Given the description of an element on the screen output the (x, y) to click on. 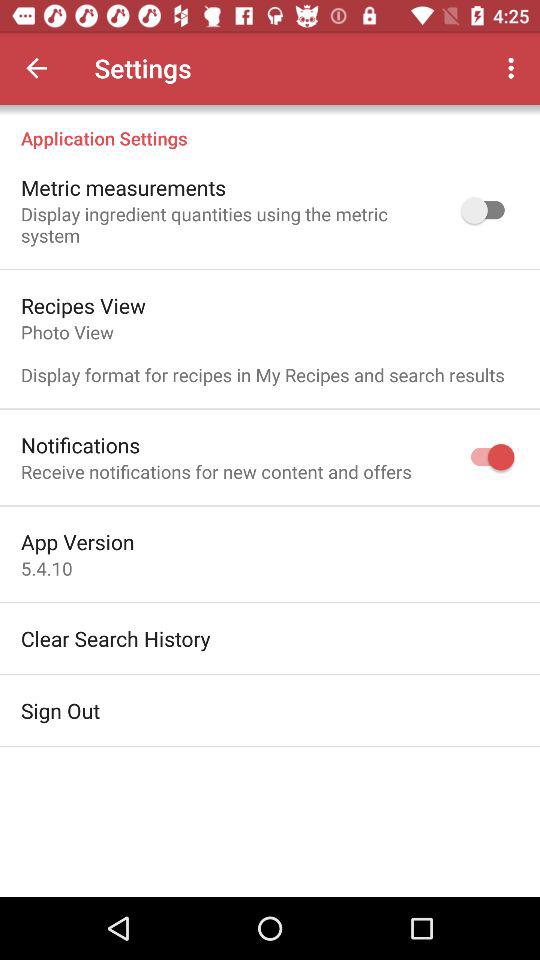
jump to the display ingredient quantities icon (228, 224)
